Given the description of an element on the screen output the (x, y) to click on. 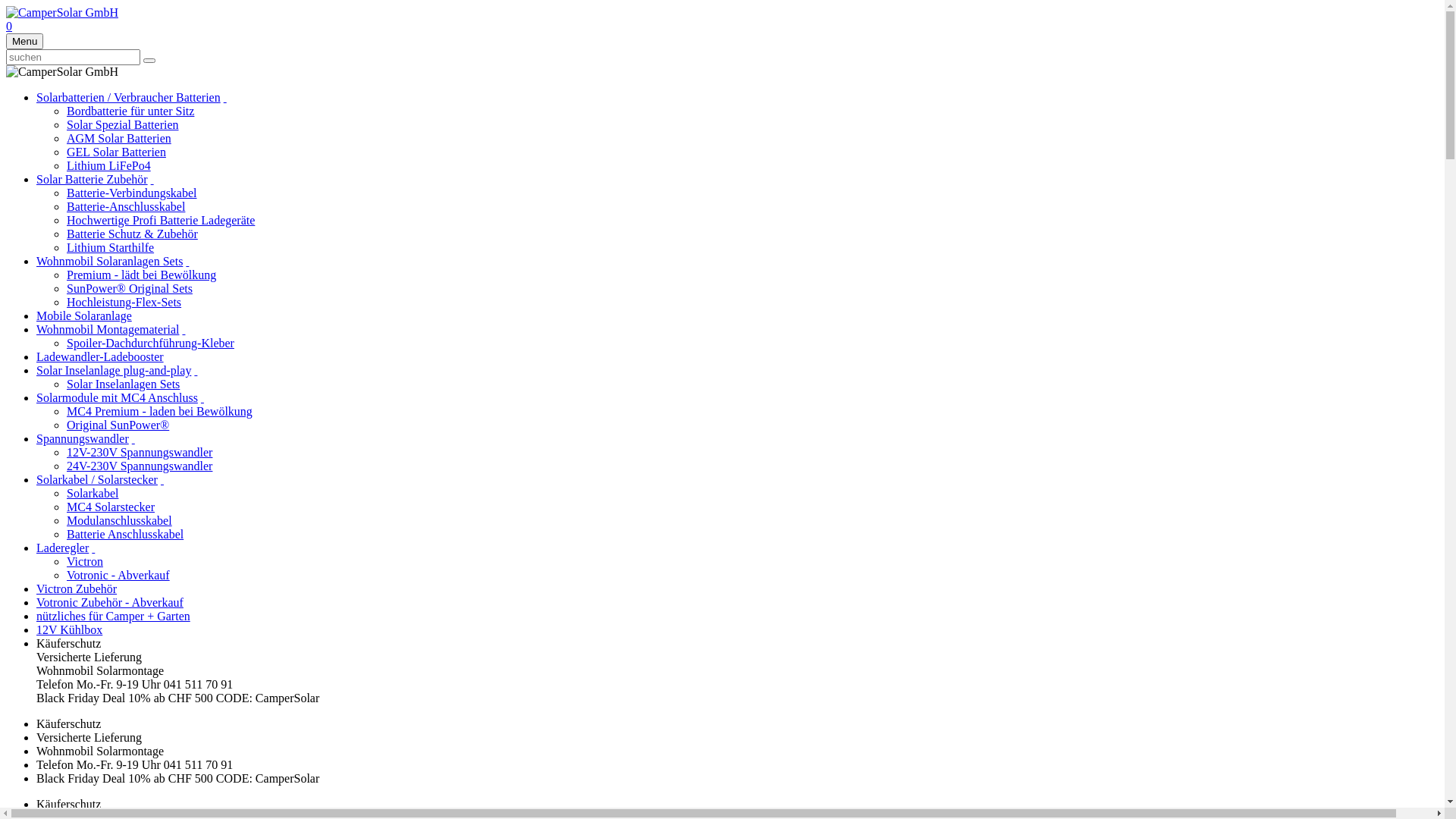
Batterie-Verbindungskabel Element type: text (131, 192)
  Element type: text (201, 397)
  Element type: text (132, 438)
Mobile Solaranlage Element type: text (83, 315)
Hochleistung-Flex-Sets Element type: text (123, 301)
Wohnmobil Montagematerial Element type: text (107, 329)
12V-230V Spannungswandler Element type: text (139, 451)
0 Element type: text (9, 25)
MC4 Solarstecker Element type: text (110, 506)
  Element type: text (183, 329)
Solar Inselanlagen Sets Element type: text (122, 383)
Menu Element type: text (24, 41)
  Element type: text (186, 260)
24V-230V Spannungswandler Element type: text (139, 465)
Solarmodule mit MC4 Anschluss Element type: text (116, 397)
Lithium LiFePo4 Element type: text (108, 165)
Wohnmobil Solaranlagen Sets Element type: text (109, 260)
  Element type: text (224, 97)
  Element type: text (195, 370)
Solarbatterien / Verbraucher Batterien Element type: text (128, 97)
Batterie Anschlusskabel Element type: text (124, 533)
  Element type: text (92, 547)
Spannungswandler Element type: text (82, 438)
Wohnmobil Solarmontage Element type: text (99, 750)
Versicherte Lieferung Element type: text (88, 737)
Batterie-Anschlusskabel Element type: text (125, 206)
Laderegler Element type: text (62, 547)
Solar Spezial Batterien Element type: text (122, 124)
Victron Element type: text (84, 561)
Modulanschlusskabel Element type: text (119, 520)
Telefon Mo.-Fr. 9-19 Uhr 041 511 70 91 Element type: text (134, 764)
  Element type: text (161, 479)
Ladewandler-Ladebooster Element type: text (99, 356)
GEL Solar Batterien Element type: text (116, 151)
Solarkabel Element type: text (92, 492)
Votronic - Abverkauf Element type: text (117, 574)
AGM Solar Batterien Element type: text (118, 137)
Black Friday Deal 10% ab CHF 500 CODE: CamperSolar Element type: text (177, 777)
  Element type: text (151, 178)
Solarkabel / Solarstecker Element type: text (96, 479)
Solar Inselanlage plug-and-play Element type: text (113, 370)
Lithium Starthilfe Element type: text (109, 247)
